Given the description of an element on the screen output the (x, y) to click on. 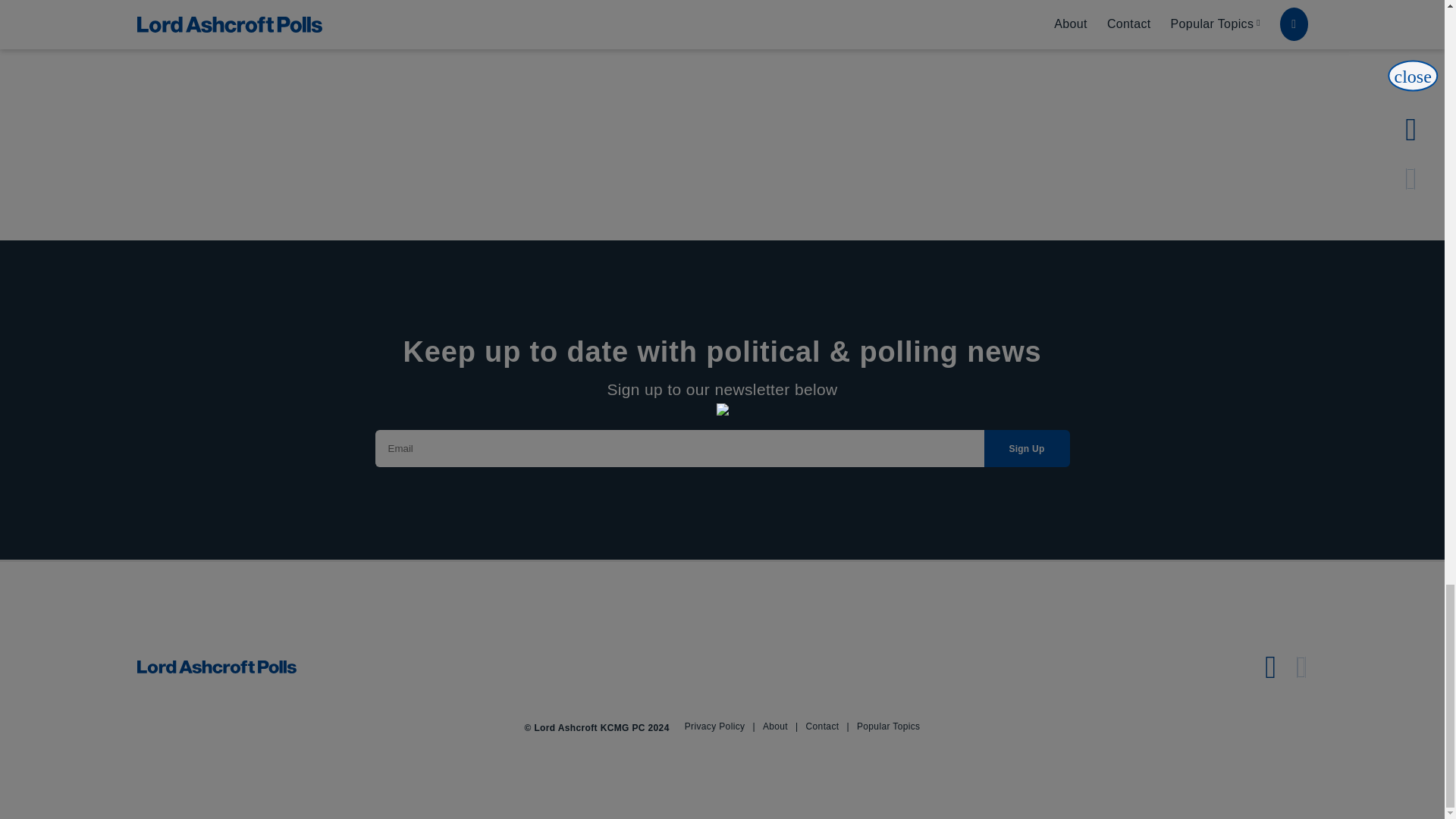
Popular Topics (888, 726)
Sign Up (1027, 447)
